Given the description of an element on the screen output the (x, y) to click on. 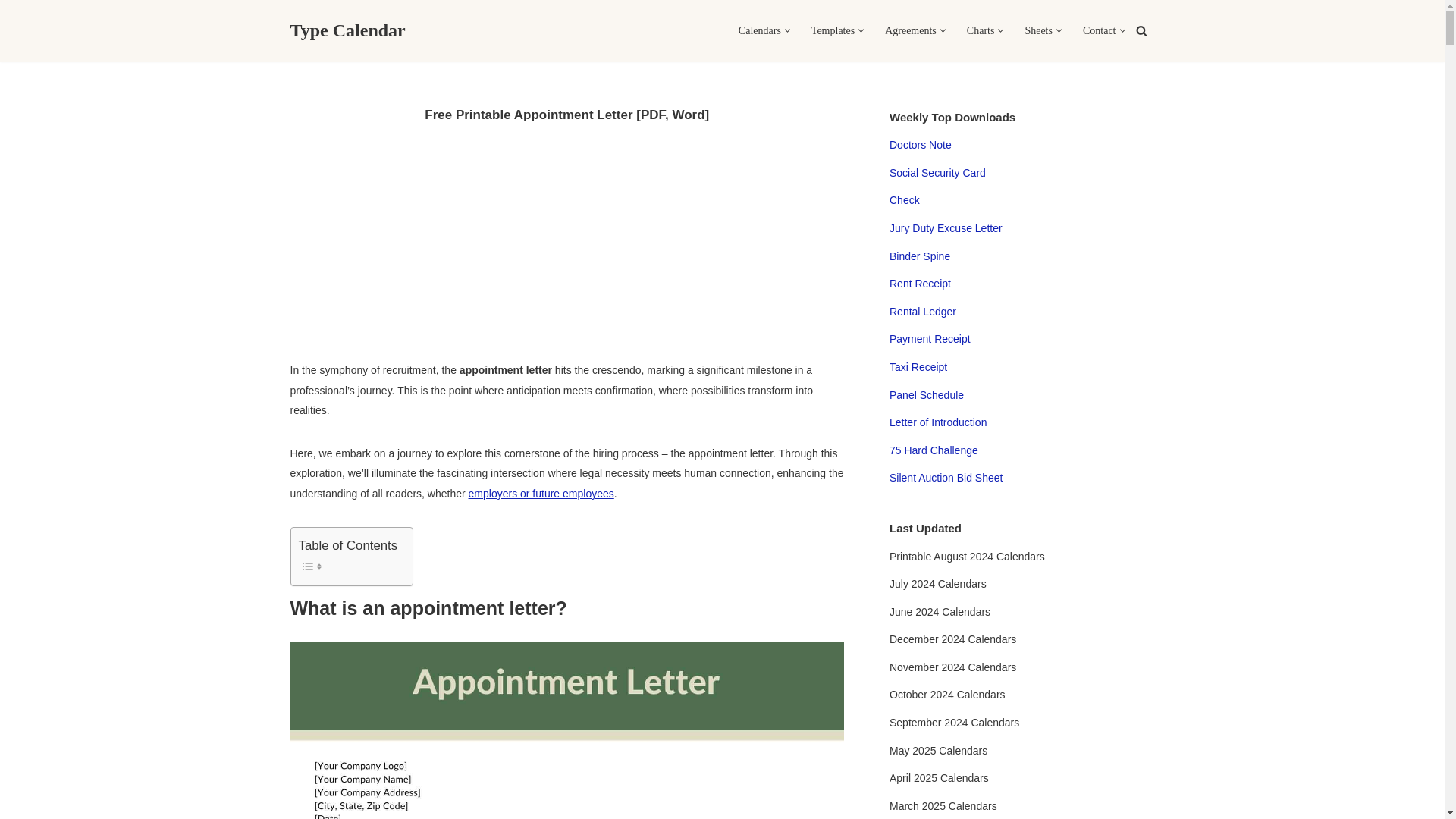
Templates (832, 30)
Skip to content (11, 31)
Charts (980, 30)
Calendars (759, 30)
Type Calendar (346, 30)
Agreements (910, 30)
